Given the description of an element on the screen output the (x, y) to click on. 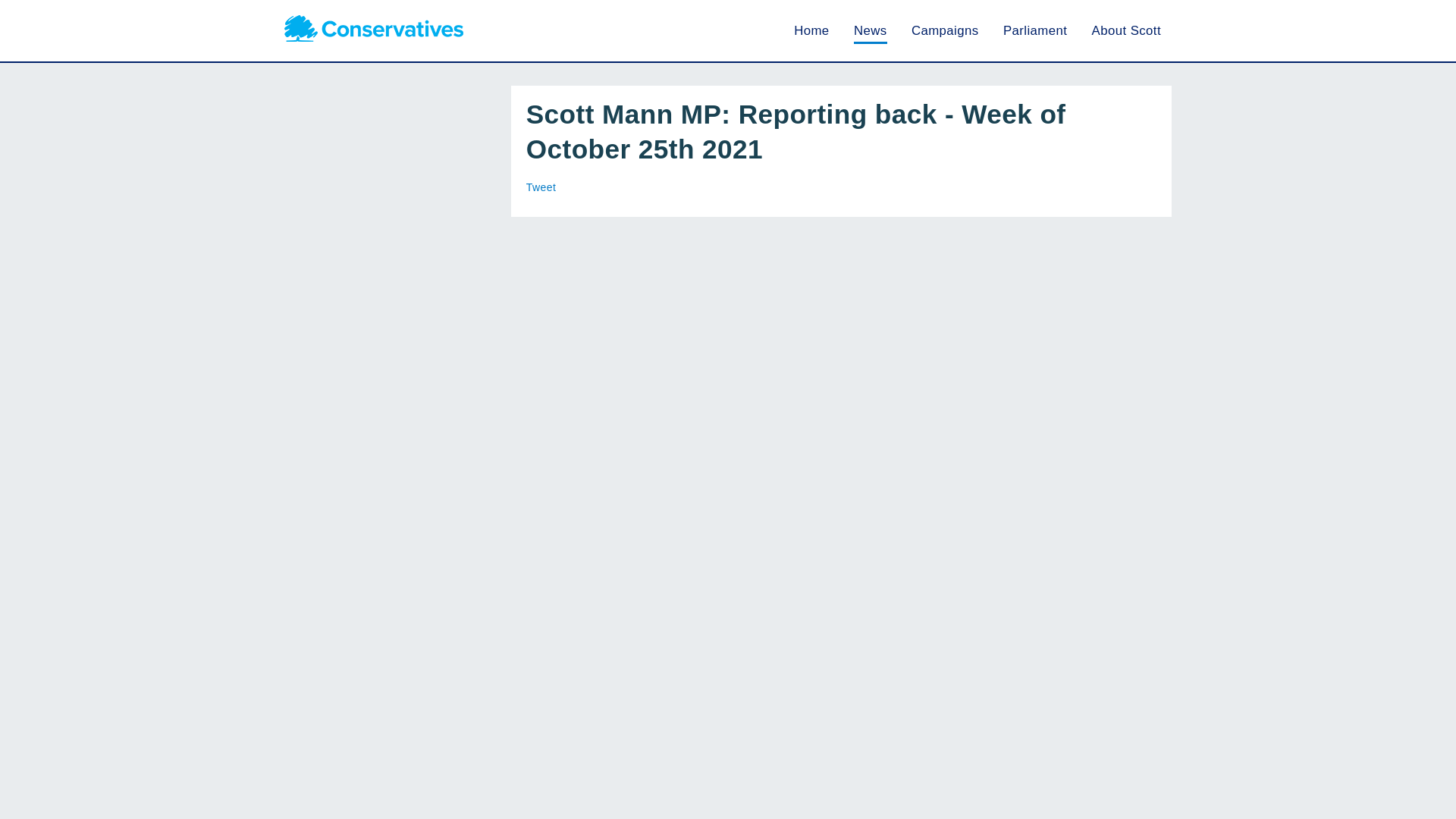
Parliament (1035, 30)
In Parliament (1035, 30)
Home (810, 30)
Tweet (540, 186)
Latest news from Scott (869, 30)
What Scott is campaigning on for North Cornwall (944, 30)
Campaigns (944, 30)
News (869, 30)
About Scott (1126, 30)
